Given the description of an element on the screen output the (x, y) to click on. 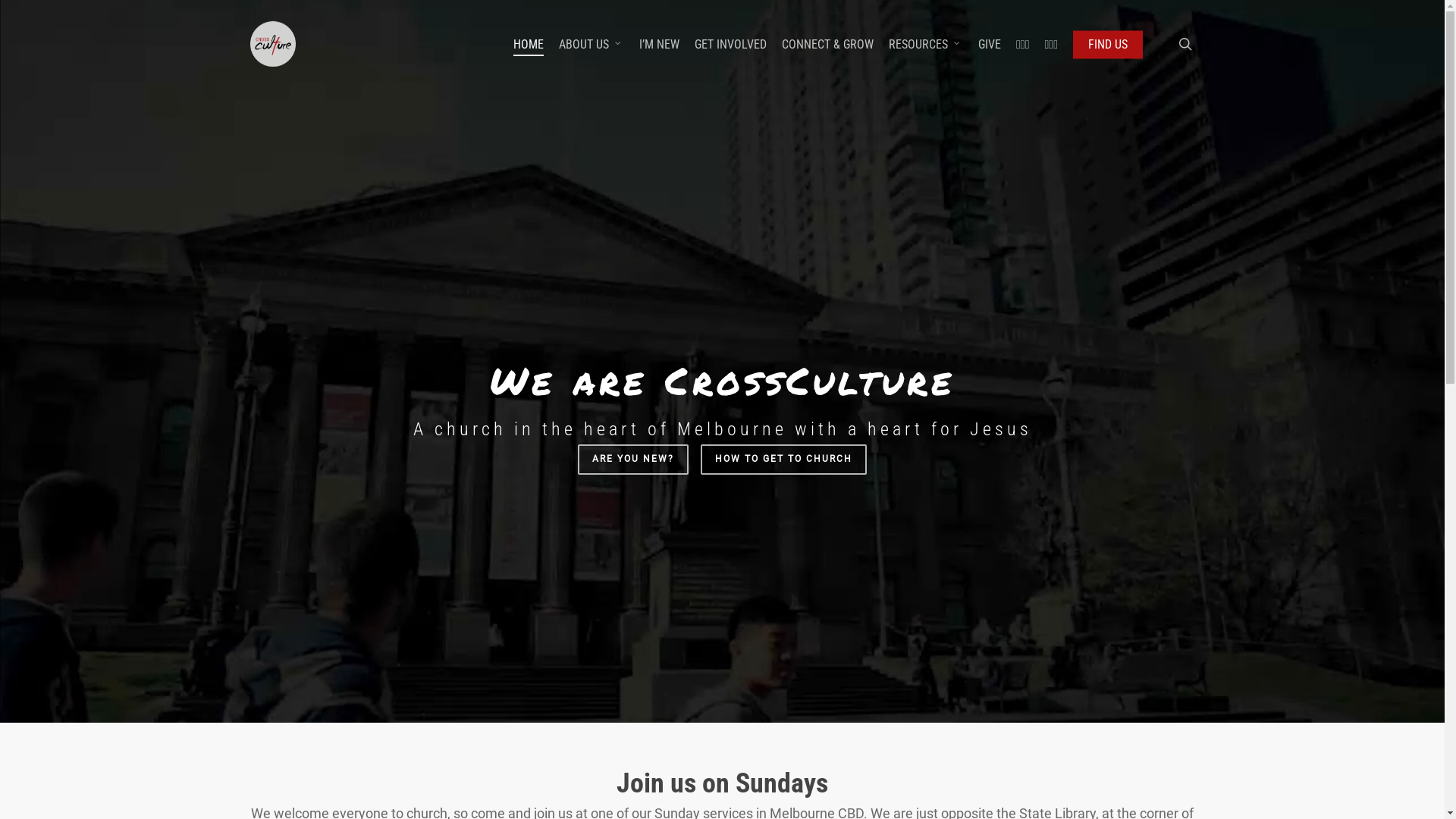
ARE YOU NEW? Element type: text (632, 458)
HOME Element type: text (528, 43)
ABOUT US Element type: text (591, 43)
GIVE Element type: text (989, 43)
search Element type: text (1185, 43)
RESOURCES Element type: text (925, 43)
HOW TO GET TO CHURCH Element type: text (783, 458)
FIND US Element type: text (1107, 43)
CONNECT & GROW Element type: text (827, 43)
GET INVOLVED Element type: text (730, 43)
